Given the description of an element on the screen output the (x, y) to click on. 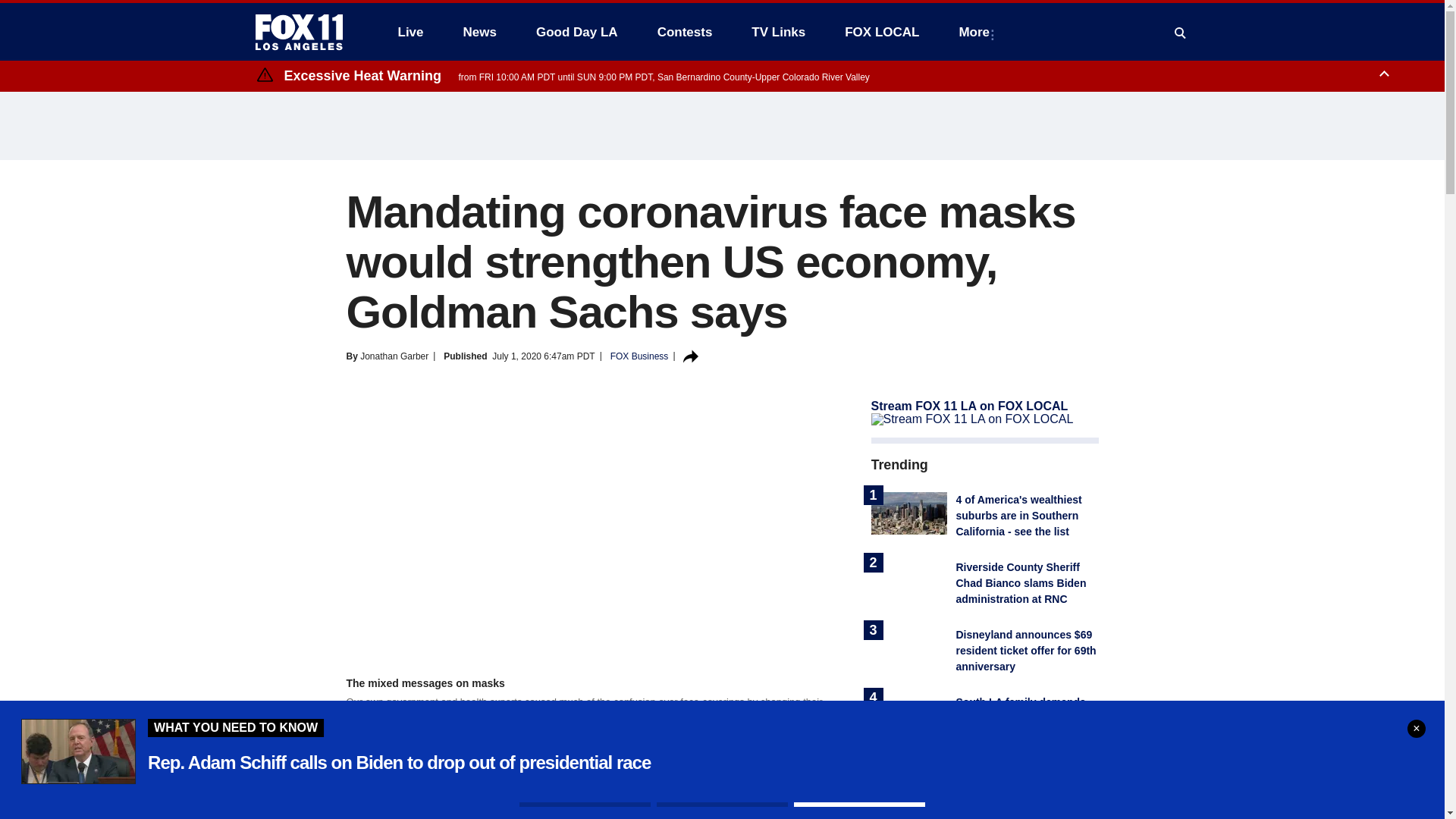
Good Day LA (577, 32)
FOX LOCAL (881, 32)
More (976, 32)
Contests (685, 32)
Live (410, 32)
News (479, 32)
TV Links (777, 32)
